Given the description of an element on the screen output the (x, y) to click on. 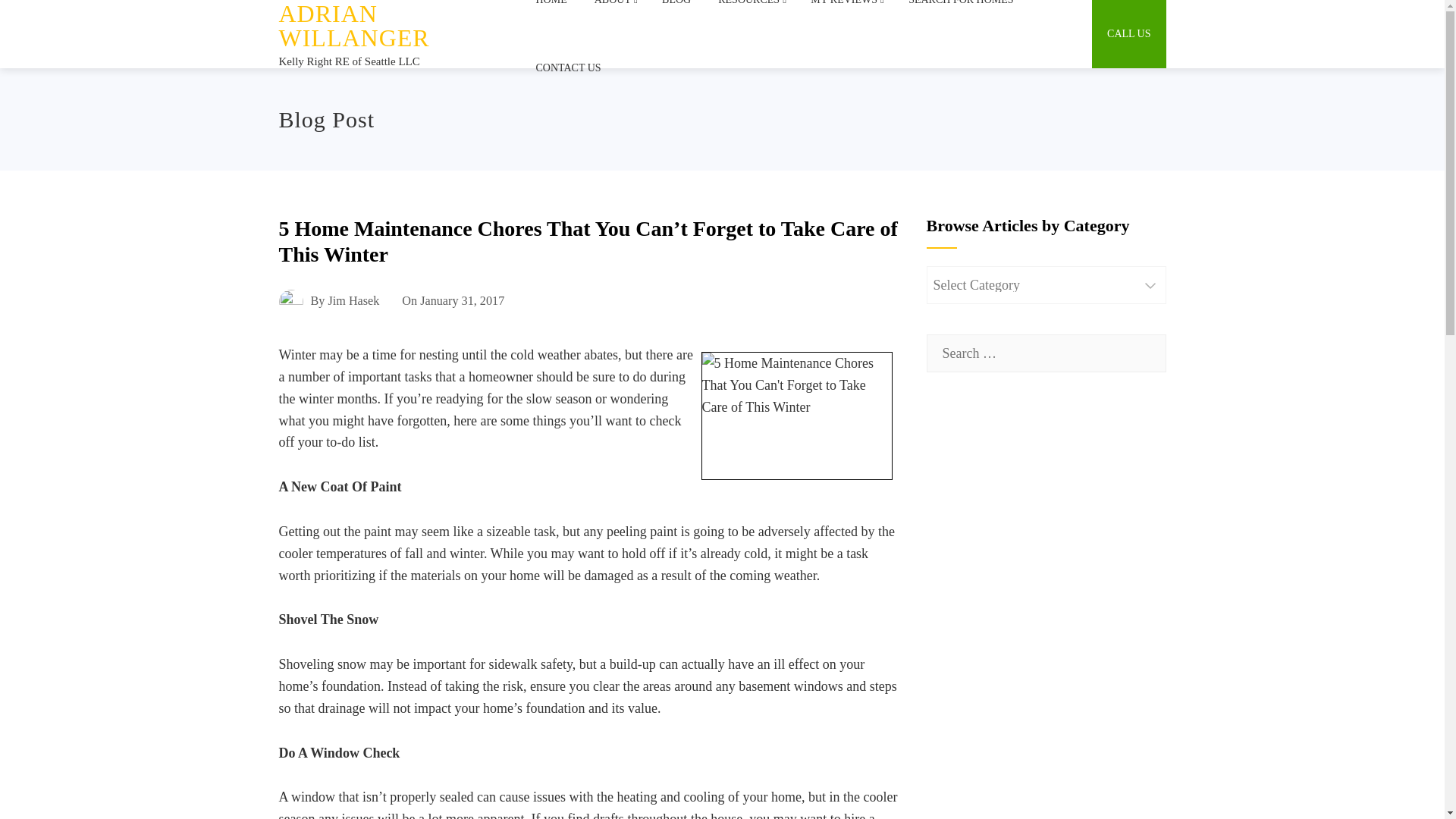
BLOG (675, 17)
RESOURCES (750, 17)
Kelly Right RE of Seattle LLC (349, 60)
HOME (551, 17)
CALL US (1129, 33)
ADRIAN WILLANGER (354, 25)
ABOUT (614, 17)
SEARCH FOR HOMES (960, 17)
CONTACT US (567, 68)
